Given the description of an element on the screen output the (x, y) to click on. 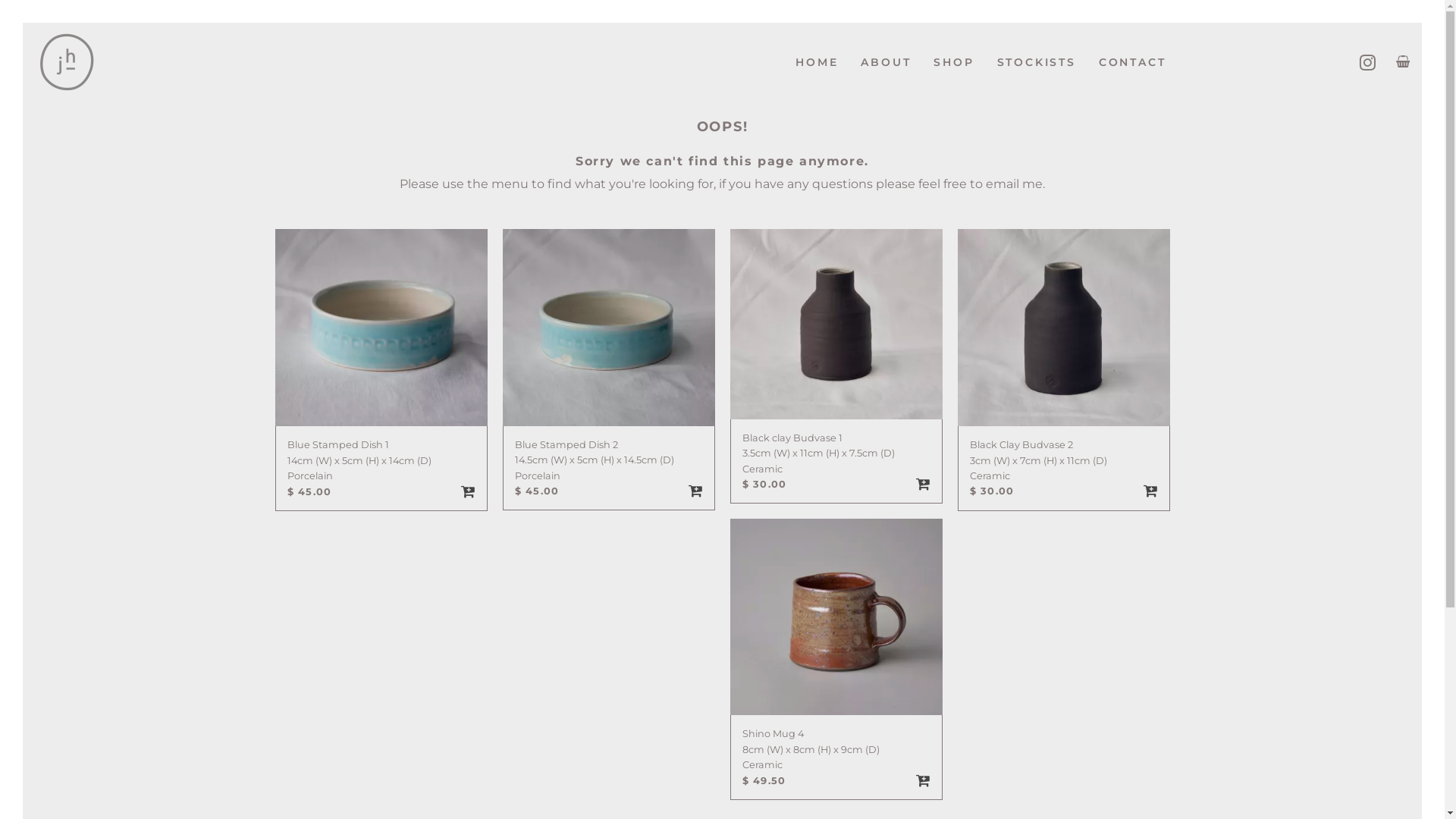
ABOUT Element type: text (885, 62)
CONTACT Element type: text (1132, 62)
STOCKISTS Element type: text (1036, 62)
HOME Element type: text (816, 62)
SHOP Element type: text (953, 62)
